Given the description of an element on the screen output the (x, y) to click on. 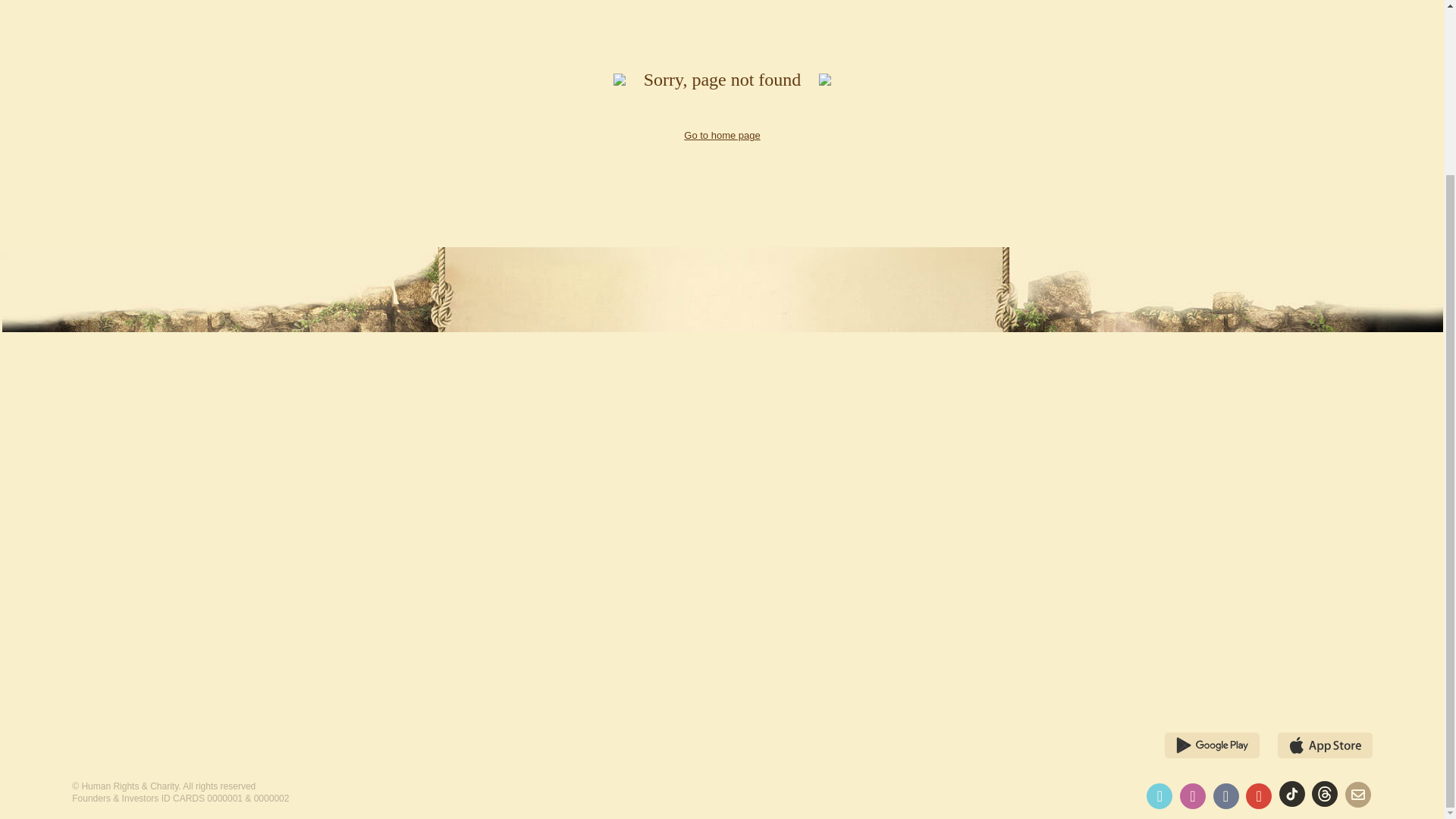
Go to home page (722, 134)
